Given the description of an element on the screen output the (x, y) to click on. 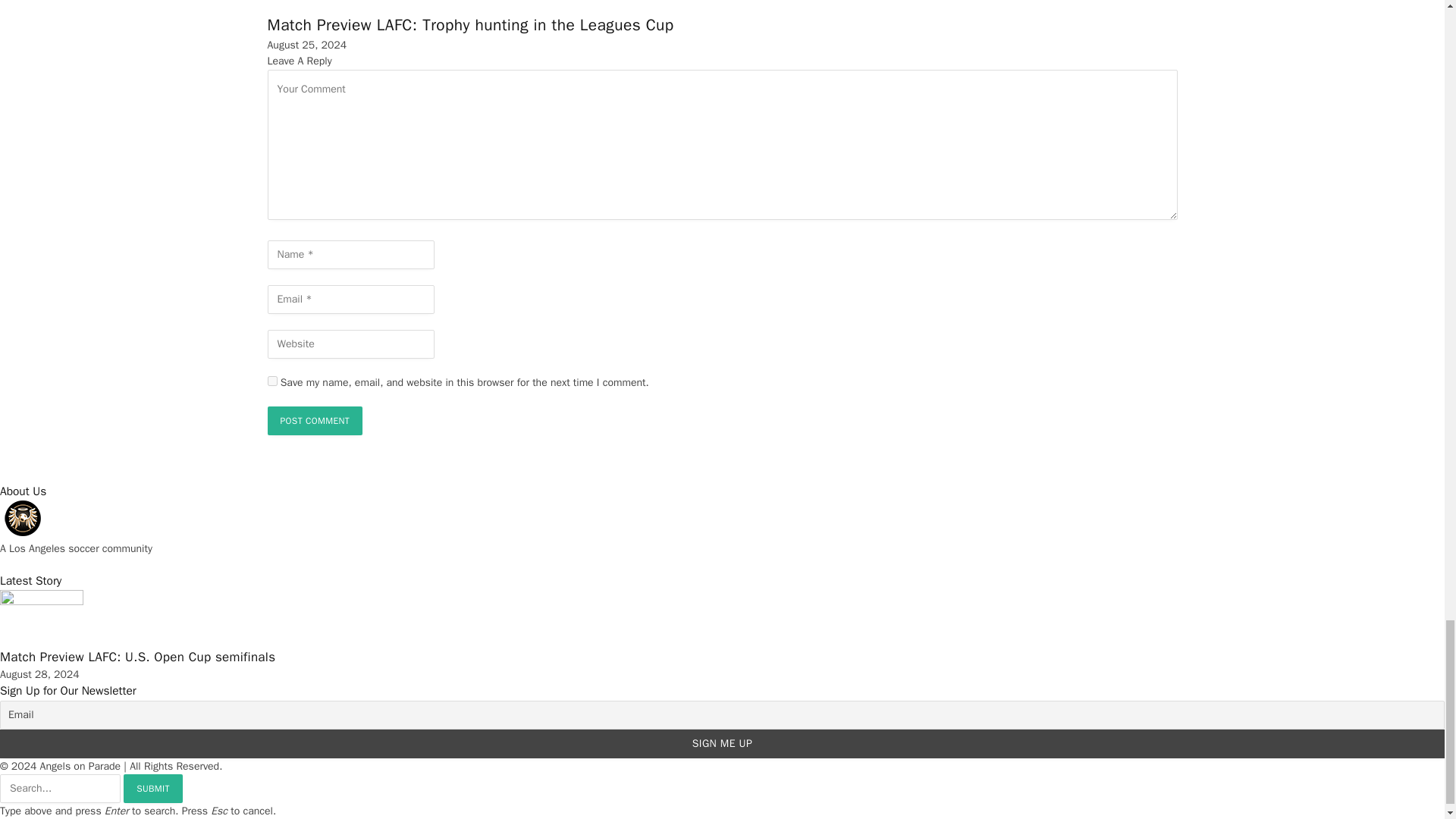
Post Comment (314, 420)
yes (271, 380)
Match Preview LAFC: Trophy hunting in the Leagues Cup (469, 25)
